Given the description of an element on the screen output the (x, y) to click on. 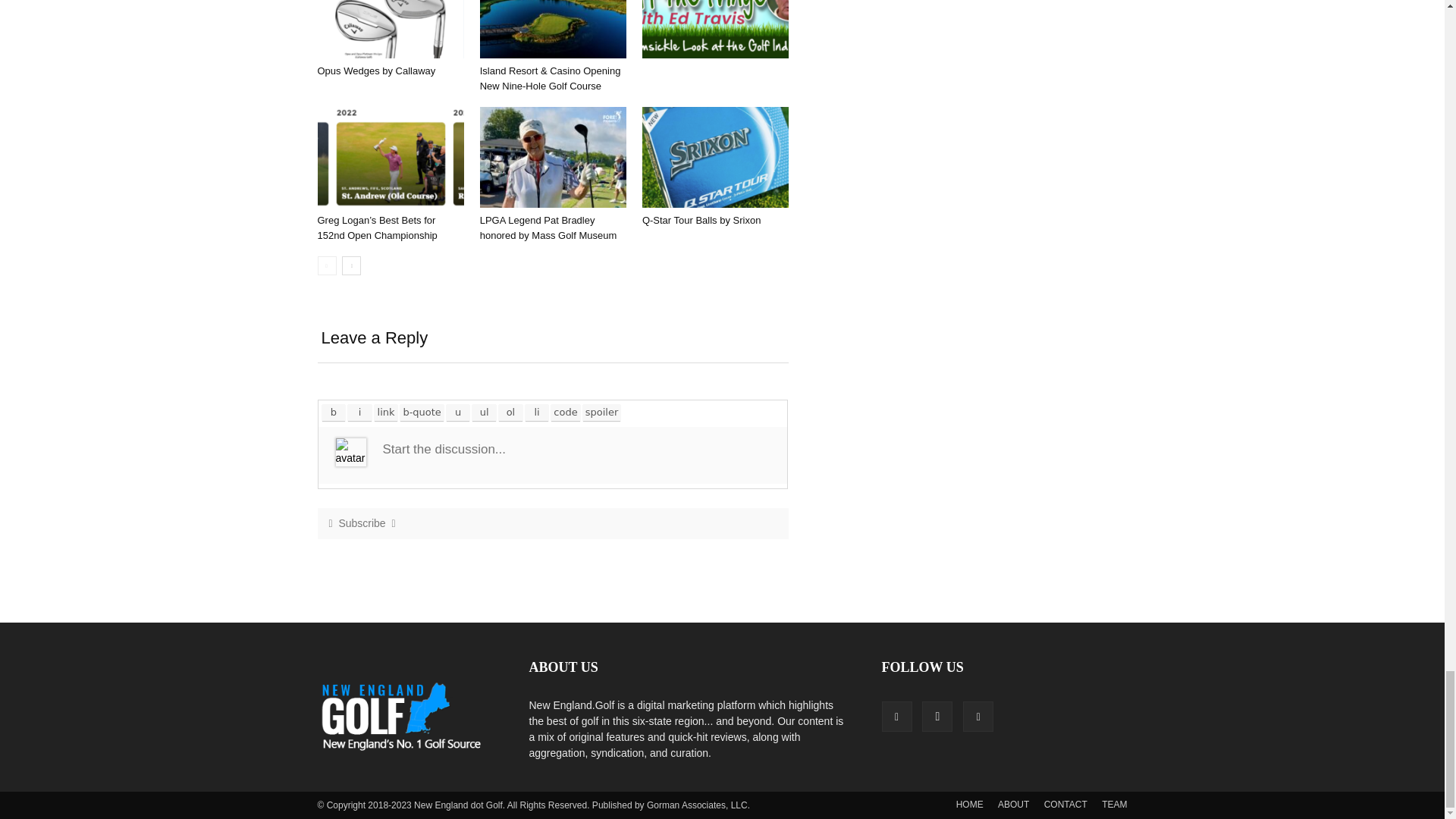
b-quote (421, 412)
i (359, 412)
ul (483, 412)
code (565, 412)
ol (510, 412)
Opus Wedges by Callaway (376, 70)
spoiler (602, 412)
U (458, 412)
Opus Wedges by Callaway (390, 29)
li (536, 412)
link (385, 412)
b (333, 412)
